Given the description of an element on the screen output the (x, y) to click on. 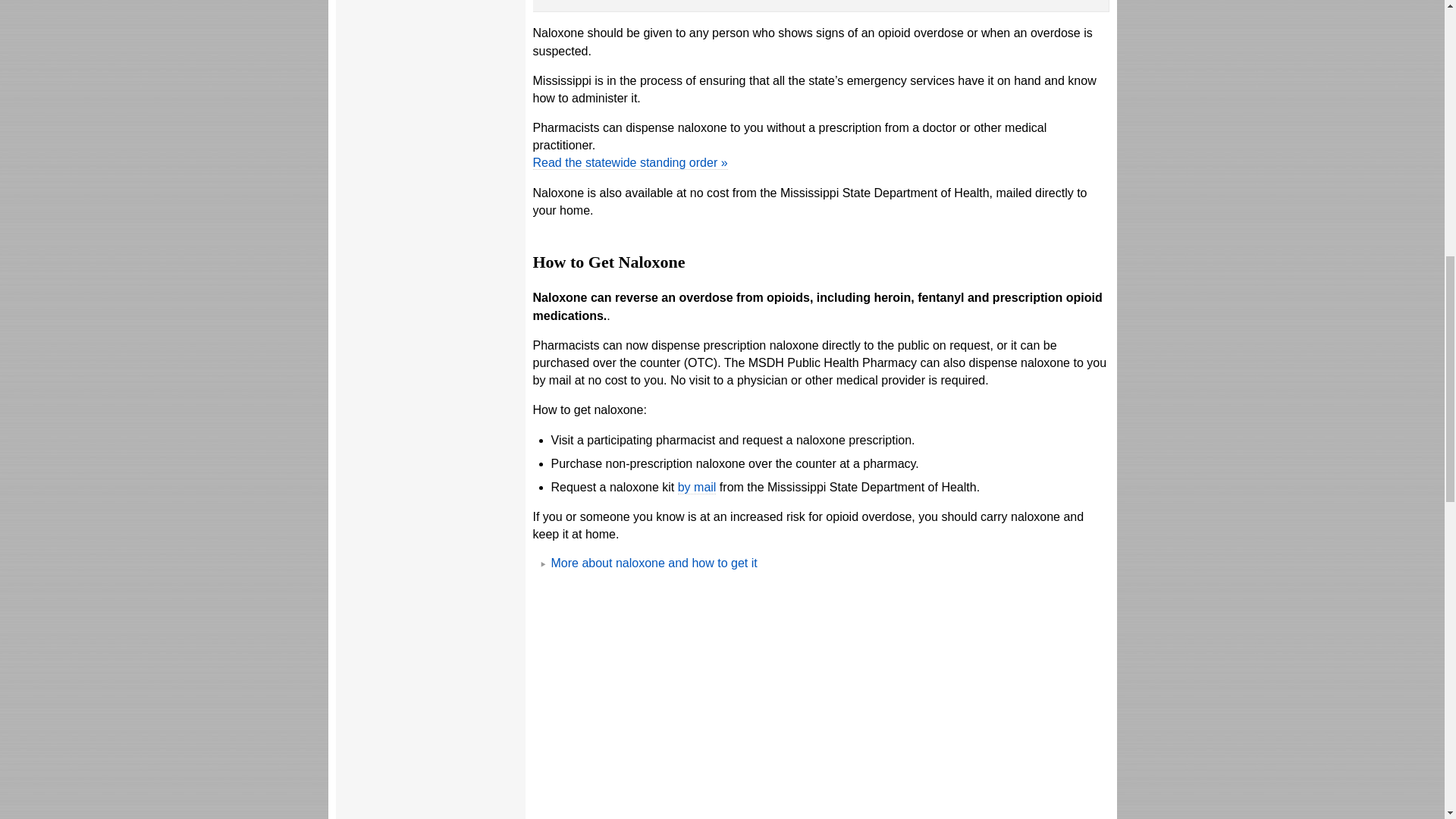
by mail (697, 487)
Video: How naloxone kits save save lives (816, 704)
More about naloxone and how to get it (653, 562)
